Given the description of an element on the screen output the (x, y) to click on. 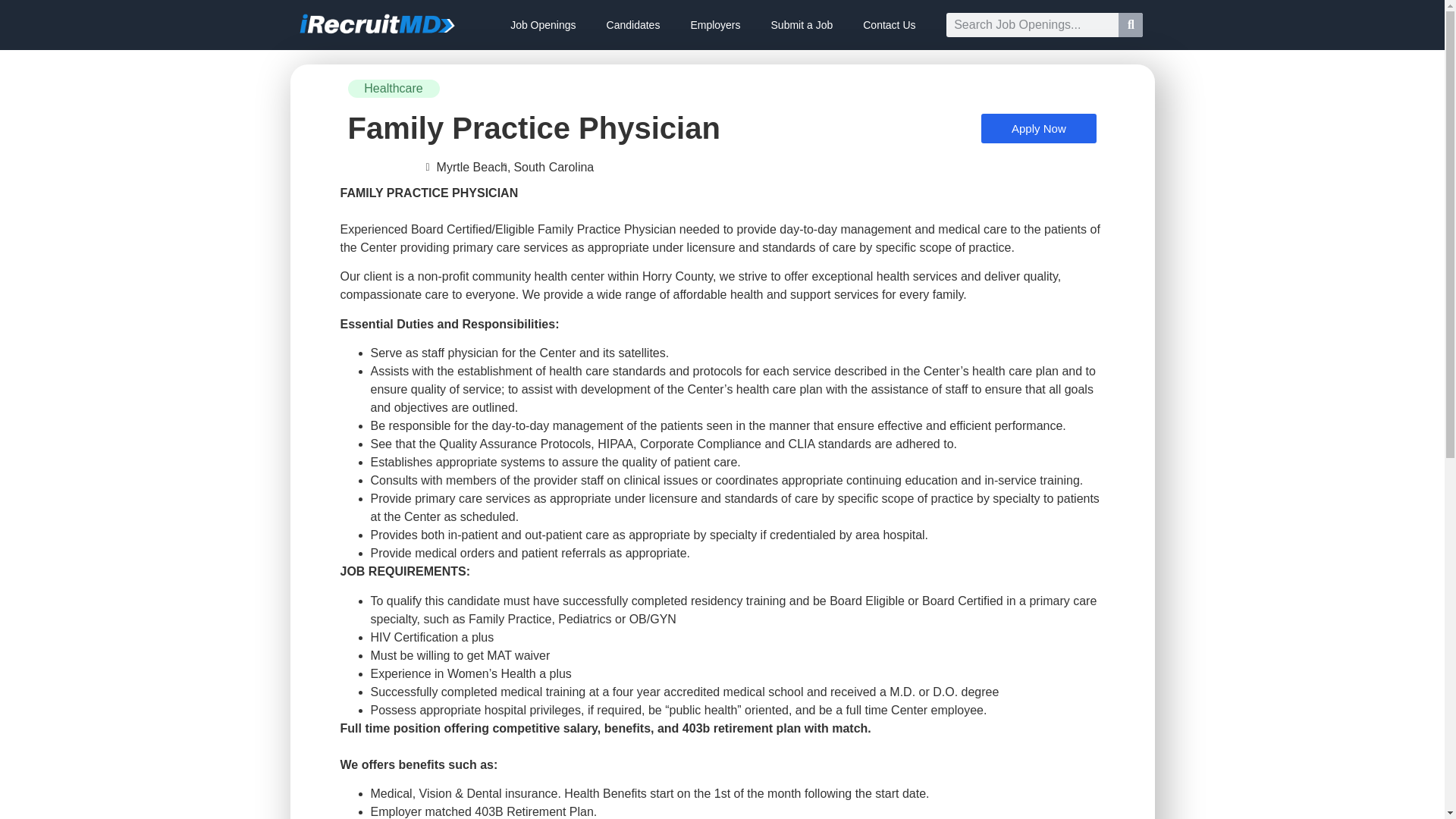
Employers (715, 24)
Healthcare (393, 88)
Contact Us (888, 24)
Submit a Job (801, 24)
Candidates (633, 24)
Job Openings (543, 24)
Apply Now (1038, 128)
